Given the description of an element on the screen output the (x, y) to click on. 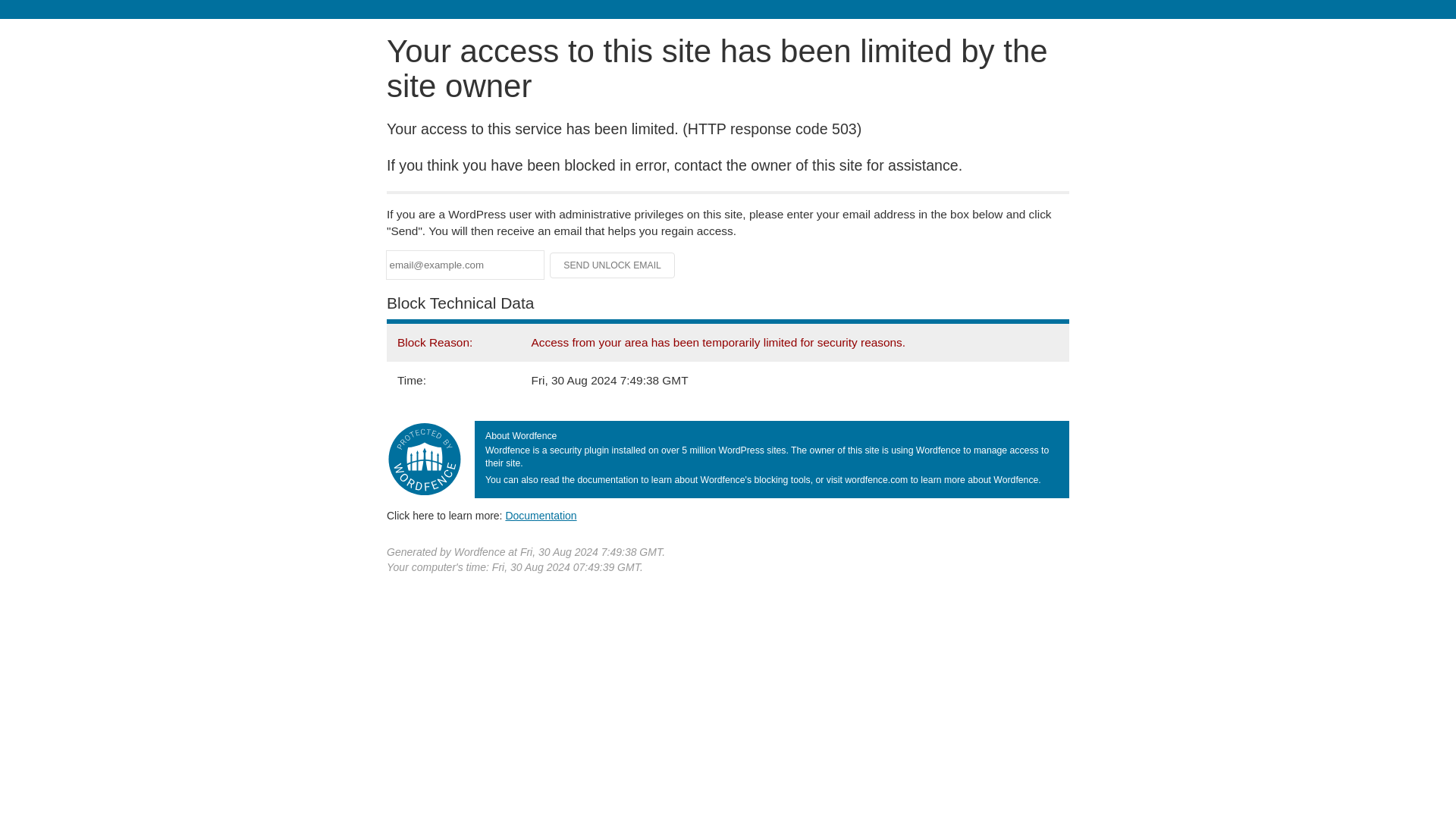
Send Unlock Email (612, 265)
Send Unlock Email (612, 265)
Documentation (540, 515)
